Given the description of an element on the screen output the (x, y) to click on. 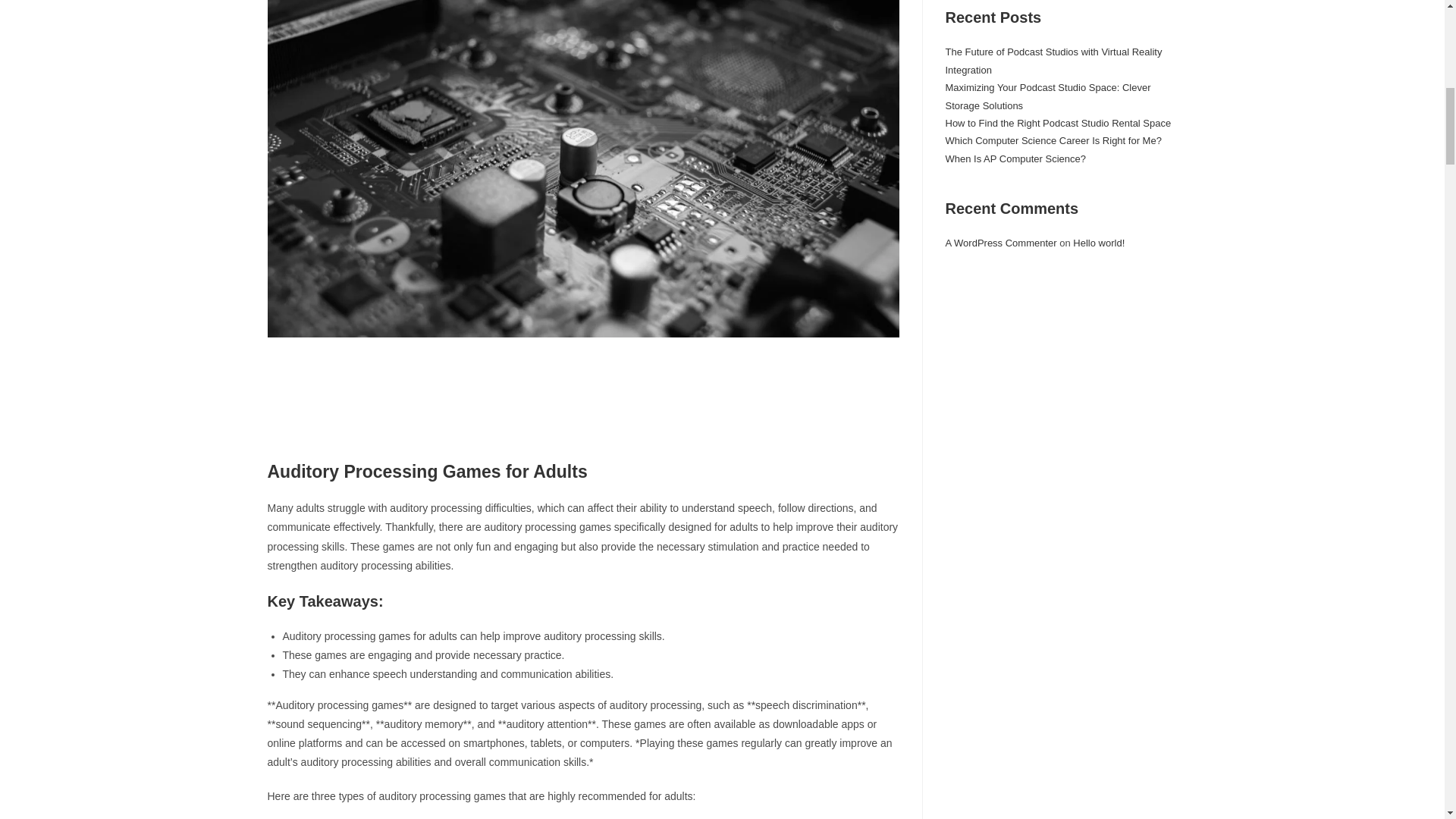
When Is AP Computer Science? (1014, 158)
How to Find the Right Podcast Studio Rental Space (1057, 122)
A WordPress Commenter (1000, 242)
Which Computer Science Career Is Right for Me? (1052, 140)
Hello world! (1098, 242)
